Given the description of an element on the screen output the (x, y) to click on. 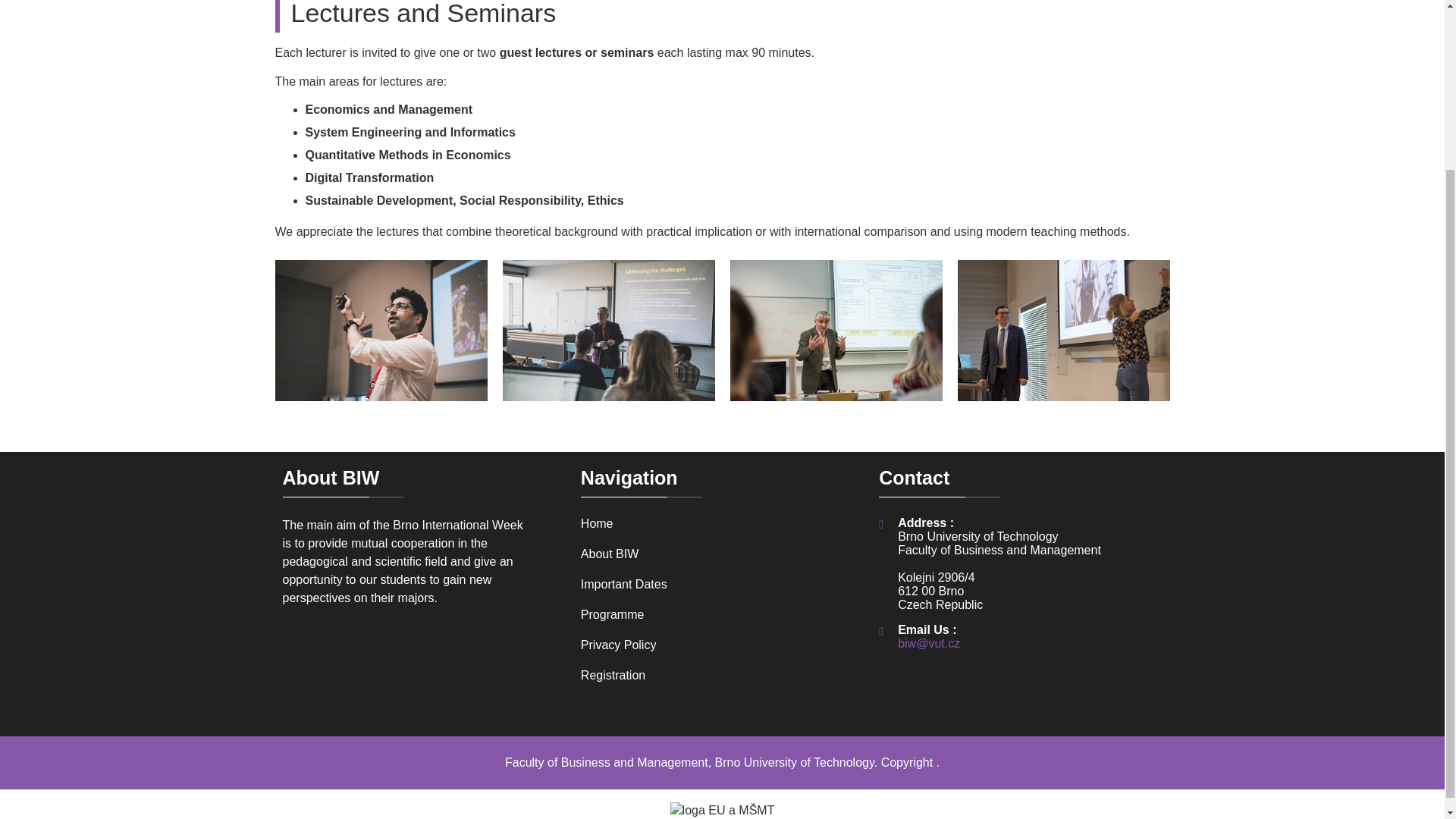
Privacy Policy (721, 645)
About BIW (721, 554)
Important Dates (721, 584)
About BIW (721, 554)
Programme (721, 614)
Home (721, 523)
Programme (721, 614)
Registration (721, 675)
